Given the description of an element on the screen output the (x, y) to click on. 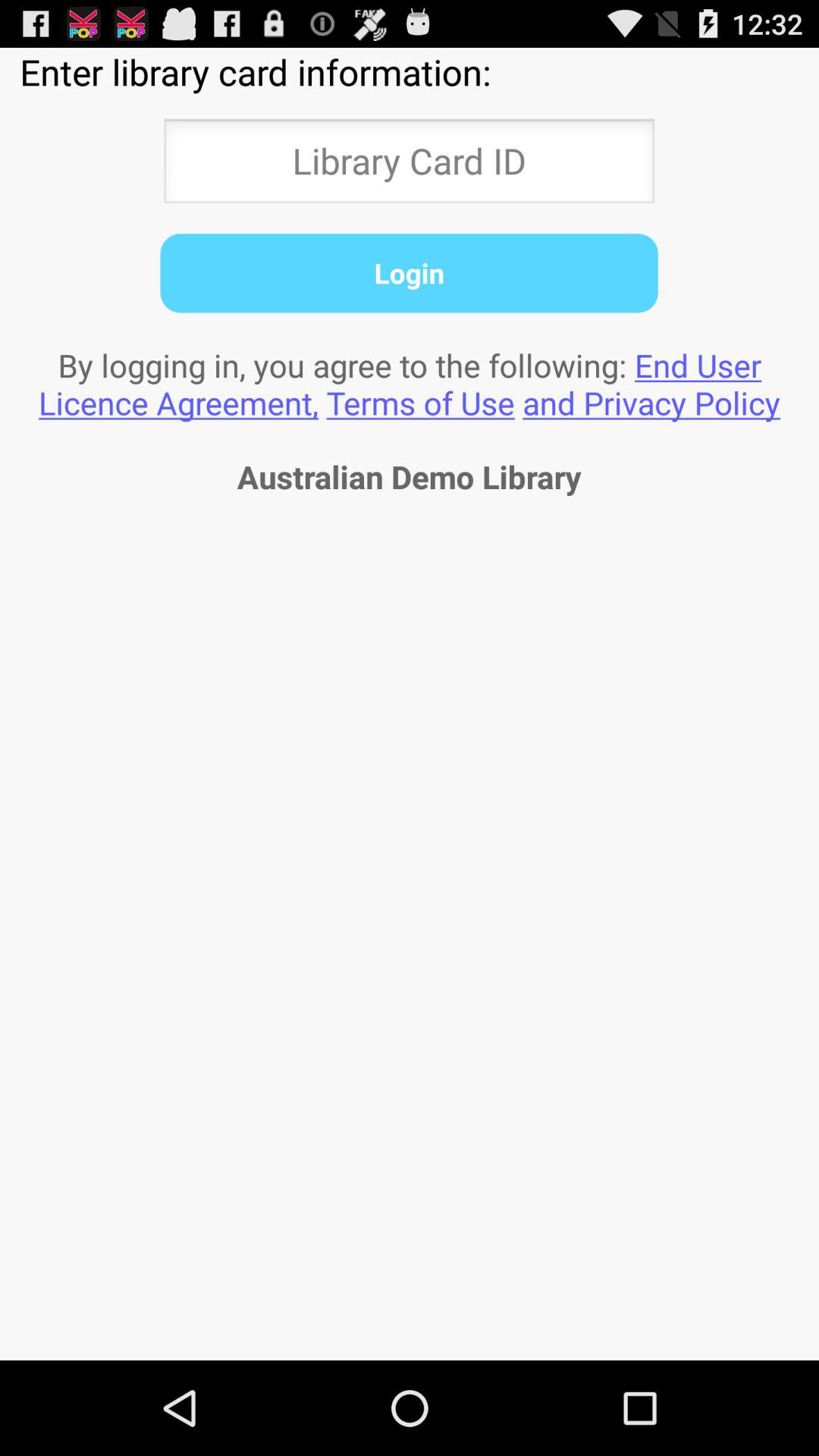
click by logging in (409, 383)
